Given the description of an element on the screen output the (x, y) to click on. 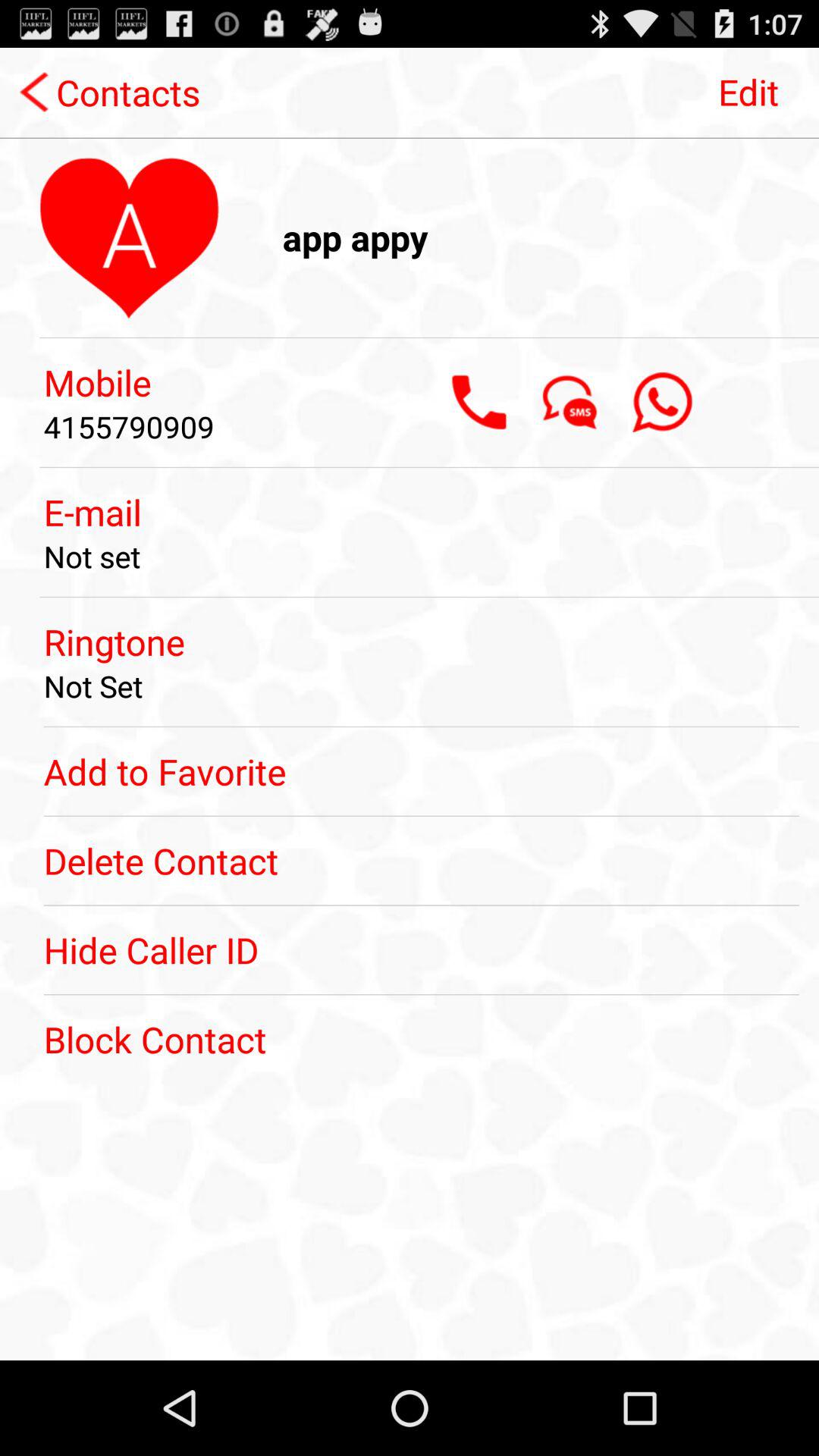
call the business (479, 402)
